Given the description of an element on the screen output the (x, y) to click on. 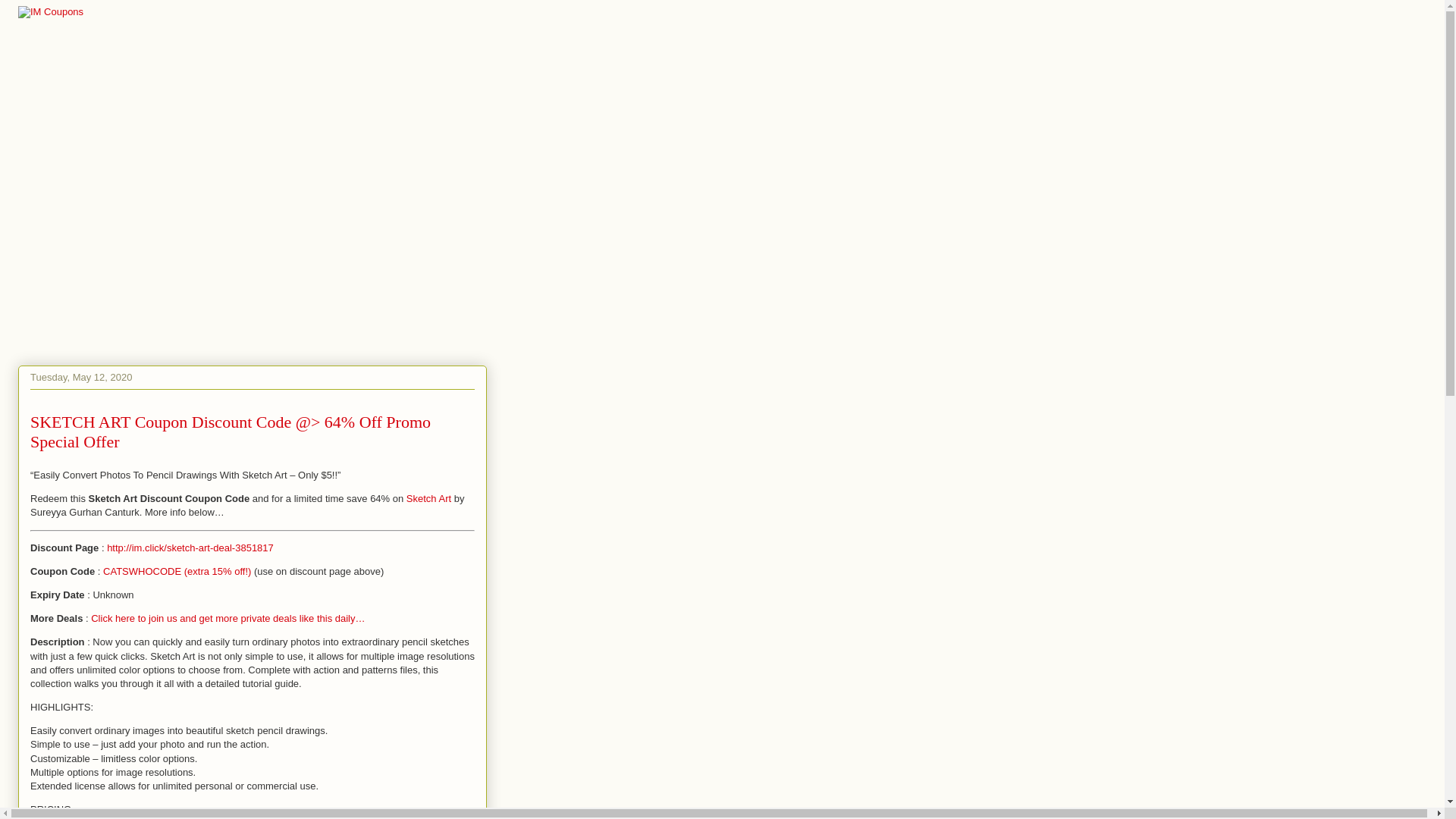
Sketch Art (428, 498)
